Given the description of an element on the screen output the (x, y) to click on. 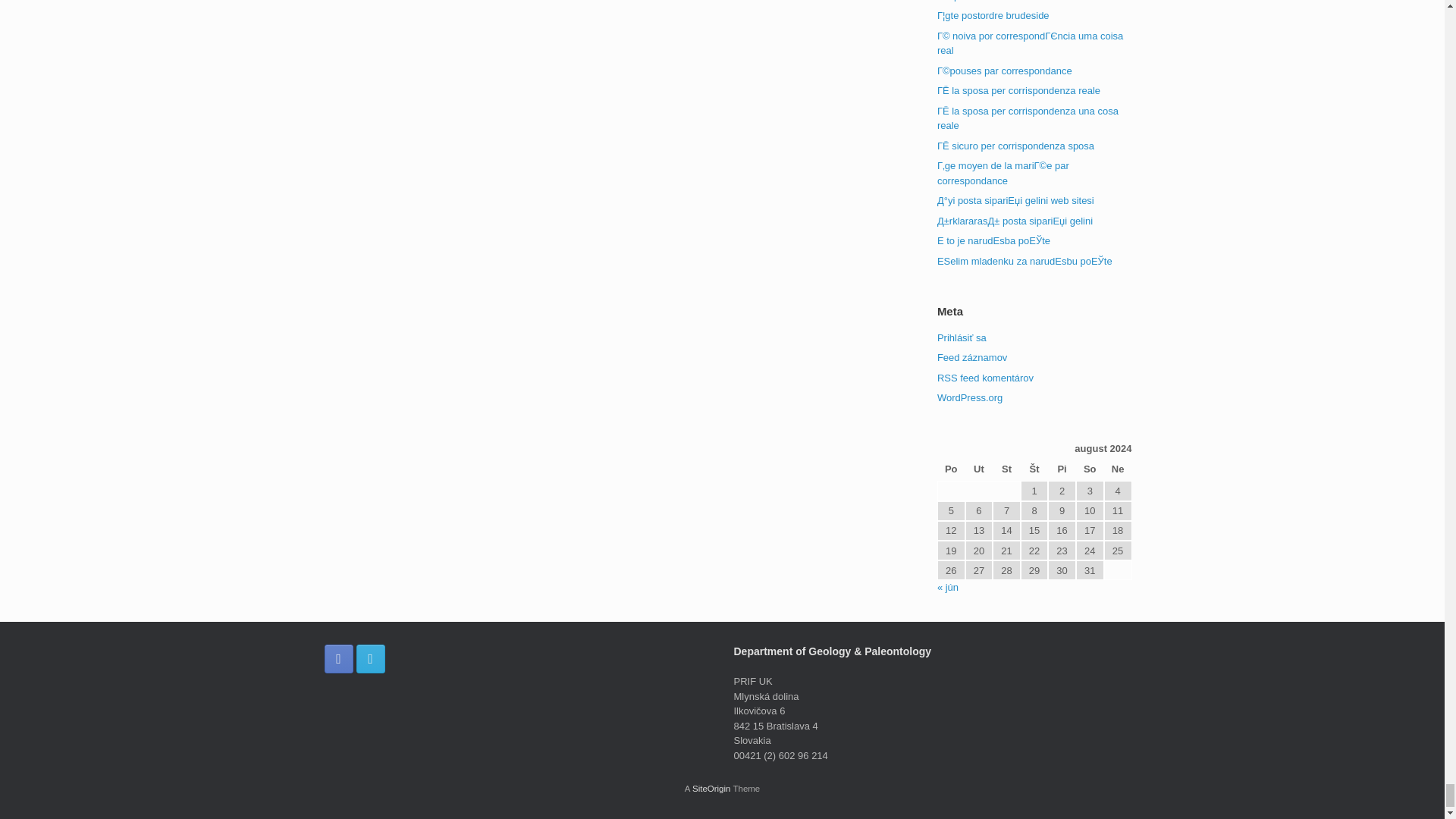
pondelok (951, 470)
sobota (1089, 470)
piatok (1061, 470)
utorok (978, 470)
streda (1006, 470)
